Given the description of an element on the screen output the (x, y) to click on. 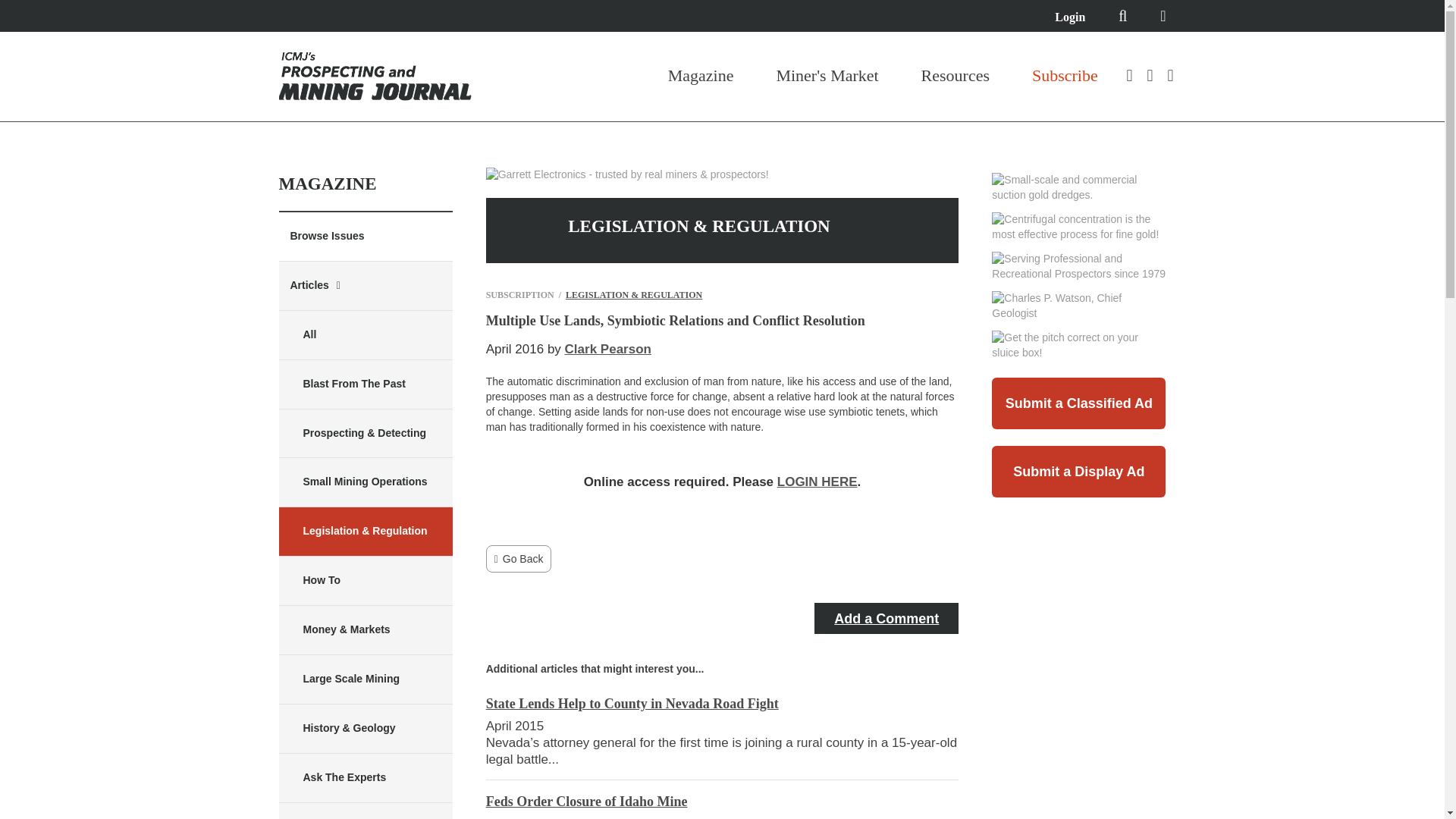
Serving Professional and Recreational Prospectors since 1979 (1078, 266)
Small-scale and commercial suction gold dredges. (1078, 187)
Login (1069, 16)
Charles P. Watson, Chief Geologist (1078, 306)
Resources (955, 75)
Get the pitch correct on your sluice box! (1078, 345)
Magazine (700, 75)
Miner's Market (826, 75)
